Given the description of an element on the screen output the (x, y) to click on. 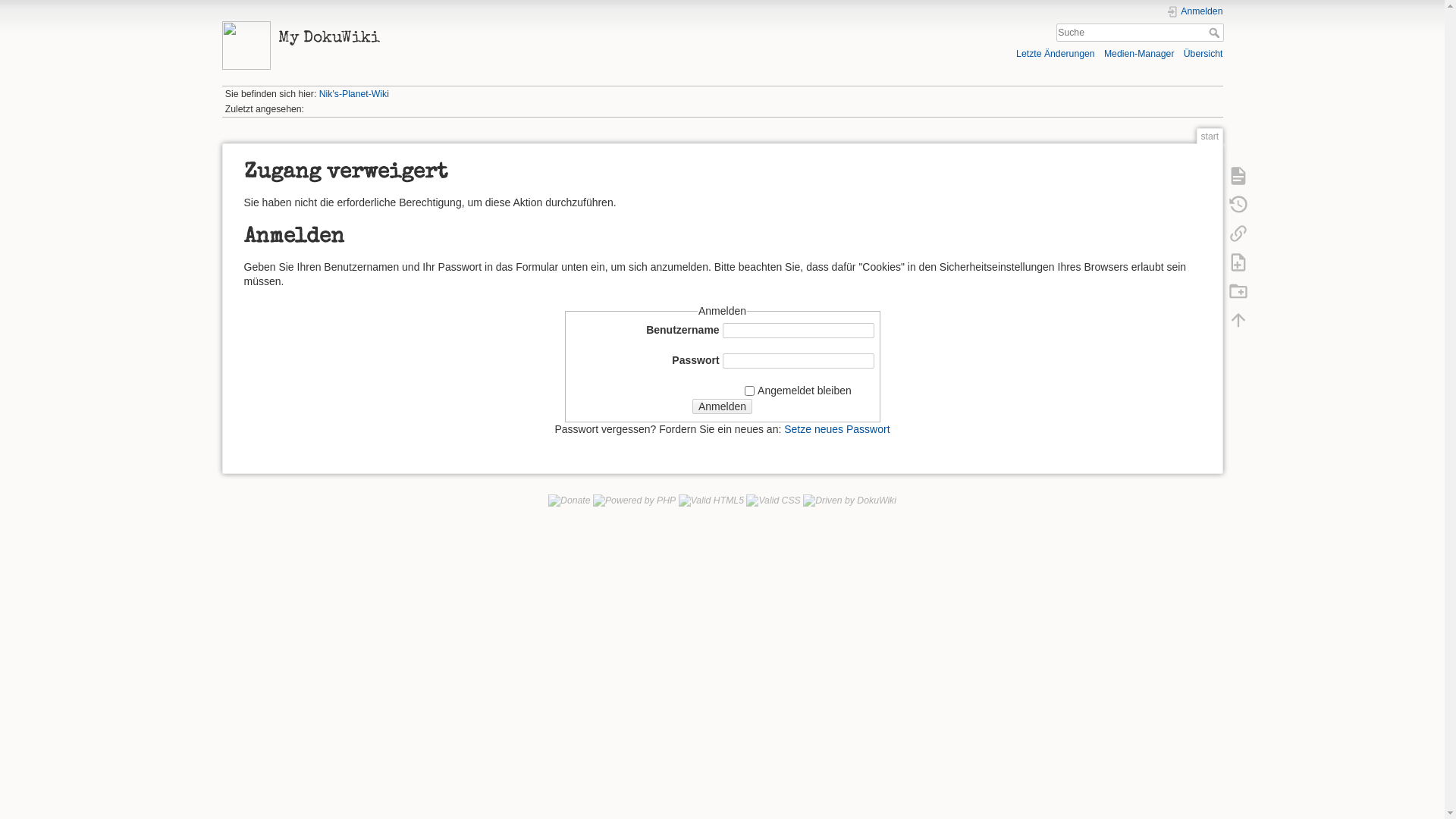
Nik's-Planet-Wiki Element type: text (354, 93)
Seite anzeigen [v] Element type: hover (1237, 174)
Medien-Manager Element type: text (1139, 53)
Donate Element type: hover (569, 500)
Nach oben [t] Element type: hover (1237, 318)
Neue Seite Element type: hover (1237, 261)
Links hierher Element type: hover (1237, 232)
Setze neues Passwort Element type: text (836, 429)
Powered by PHP Element type: hover (634, 500)
Anmelden Element type: text (722, 406)
My DokuWiki Element type: text (466, 34)
Neuer Unterordner Element type: hover (1237, 290)
[F] Element type: hover (1139, 32)
Valid CSS Element type: hover (773, 500)
Valid HTML5 Element type: hover (710, 500)
Suche Element type: text (1215, 32)
Driven by DokuWiki Element type: hover (849, 500)
Anmelden Element type: text (1194, 11)
